Given the description of an element on the screen output the (x, y) to click on. 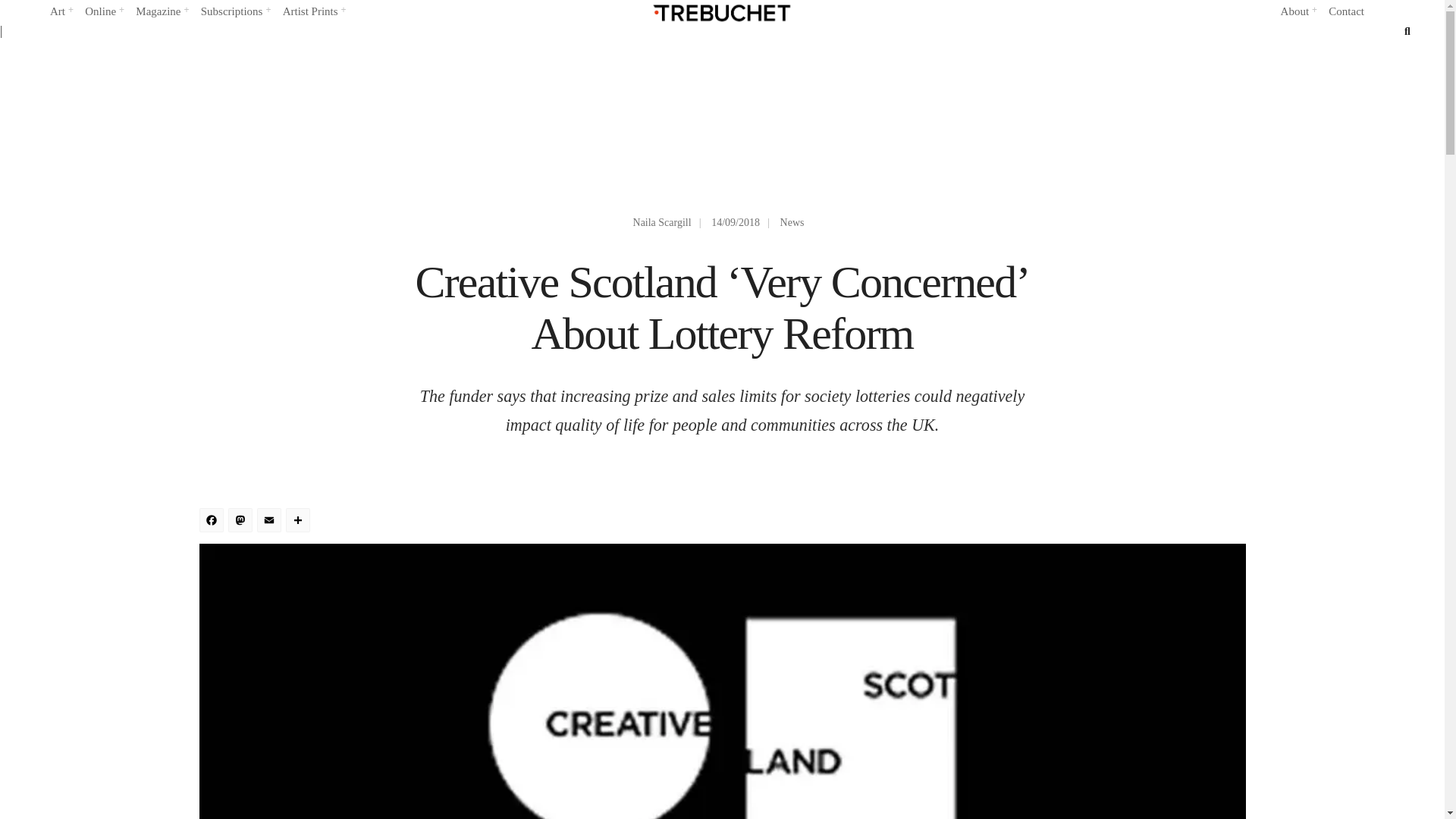
Artist Prints (314, 11)
Subscriptions (235, 11)
Online (104, 11)
Art (61, 11)
Posts by Naila Scargill (662, 222)
Art (61, 11)
Magazine (161, 11)
Email (270, 521)
Mastodon (241, 521)
Facebook (212, 521)
